Given the description of an element on the screen output the (x, y) to click on. 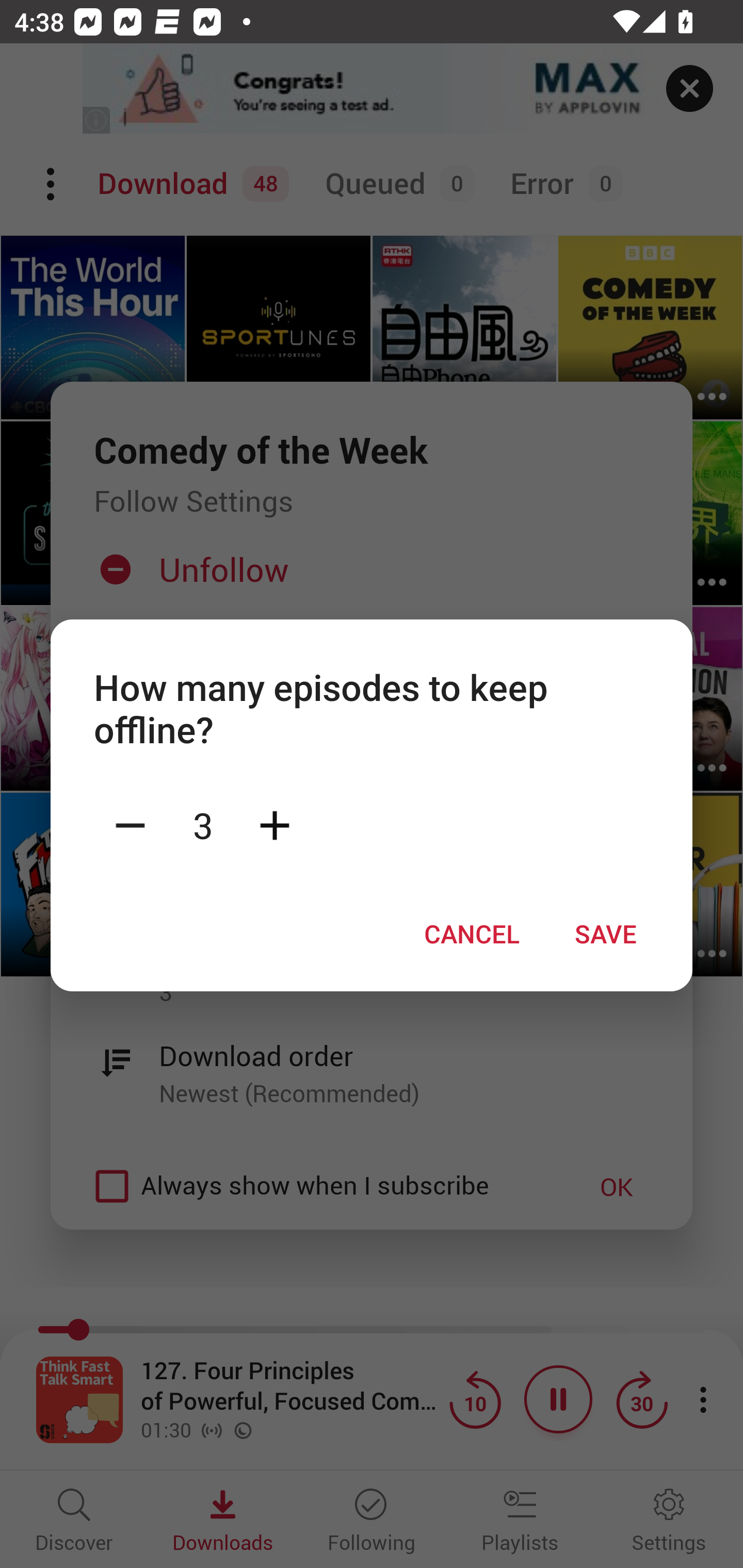
Minus (129, 824)
Plus (274, 824)
CANCEL (470, 933)
SAVE (605, 933)
